Given the description of an element on the screen output the (x, y) to click on. 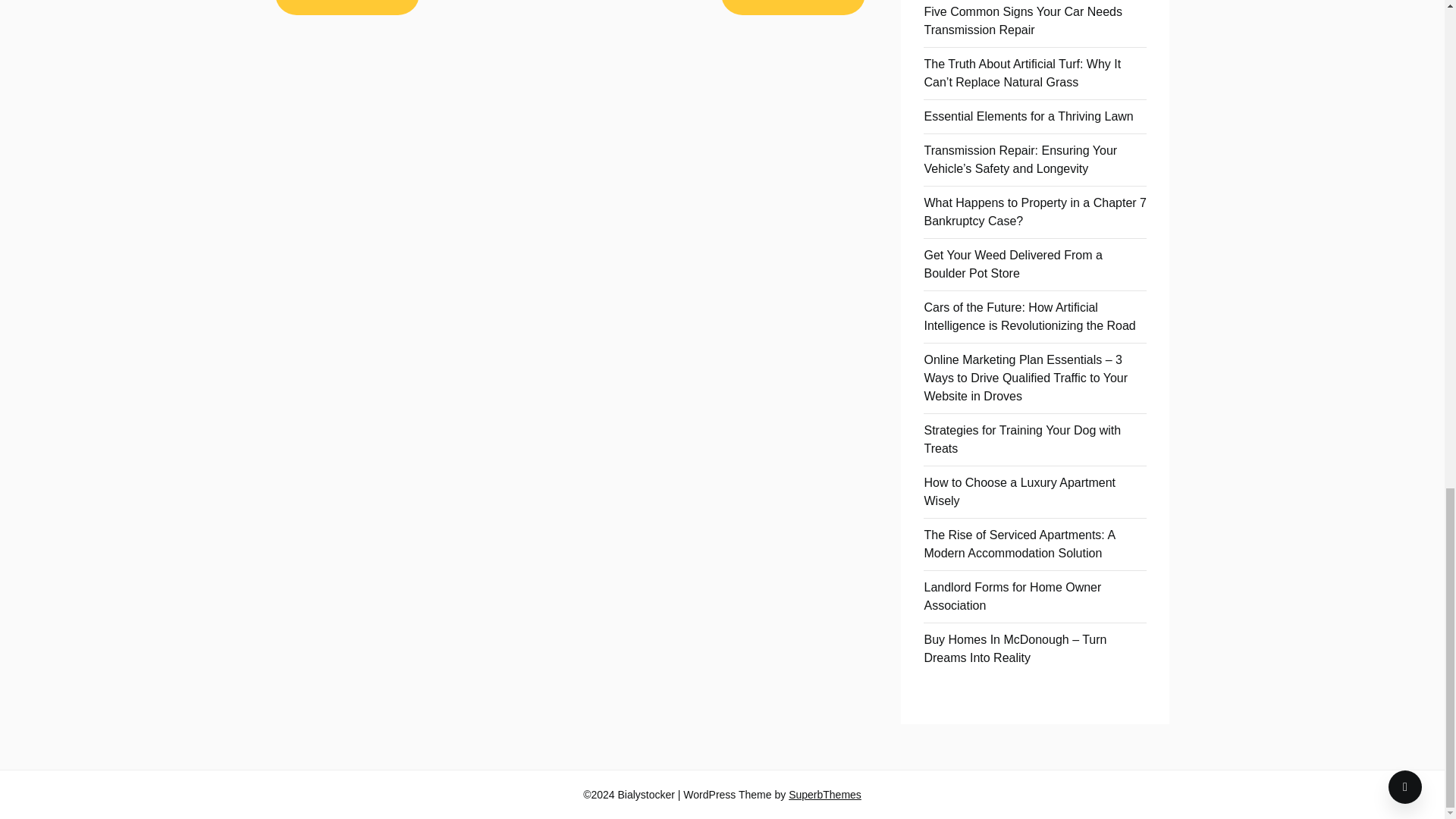
Previous post (347, 7)
Essential Elements for a Thriving Lawn (1027, 115)
Strategies for Training Your Dog with Treats (1022, 439)
Landlord Forms for Home Owner Association (1011, 595)
SuperbThemes (825, 794)
How to Choose a Luxury Apartment Wisely (1019, 490)
What Happens to Property in a Chapter 7 Bankruptcy Case? (1035, 211)
Next post (792, 7)
Five Common Signs Your Car Needs Transmission Repair (1022, 20)
Get Your Weed Delivered From a Boulder Pot Store (1012, 264)
